Given the description of an element on the screen output the (x, y) to click on. 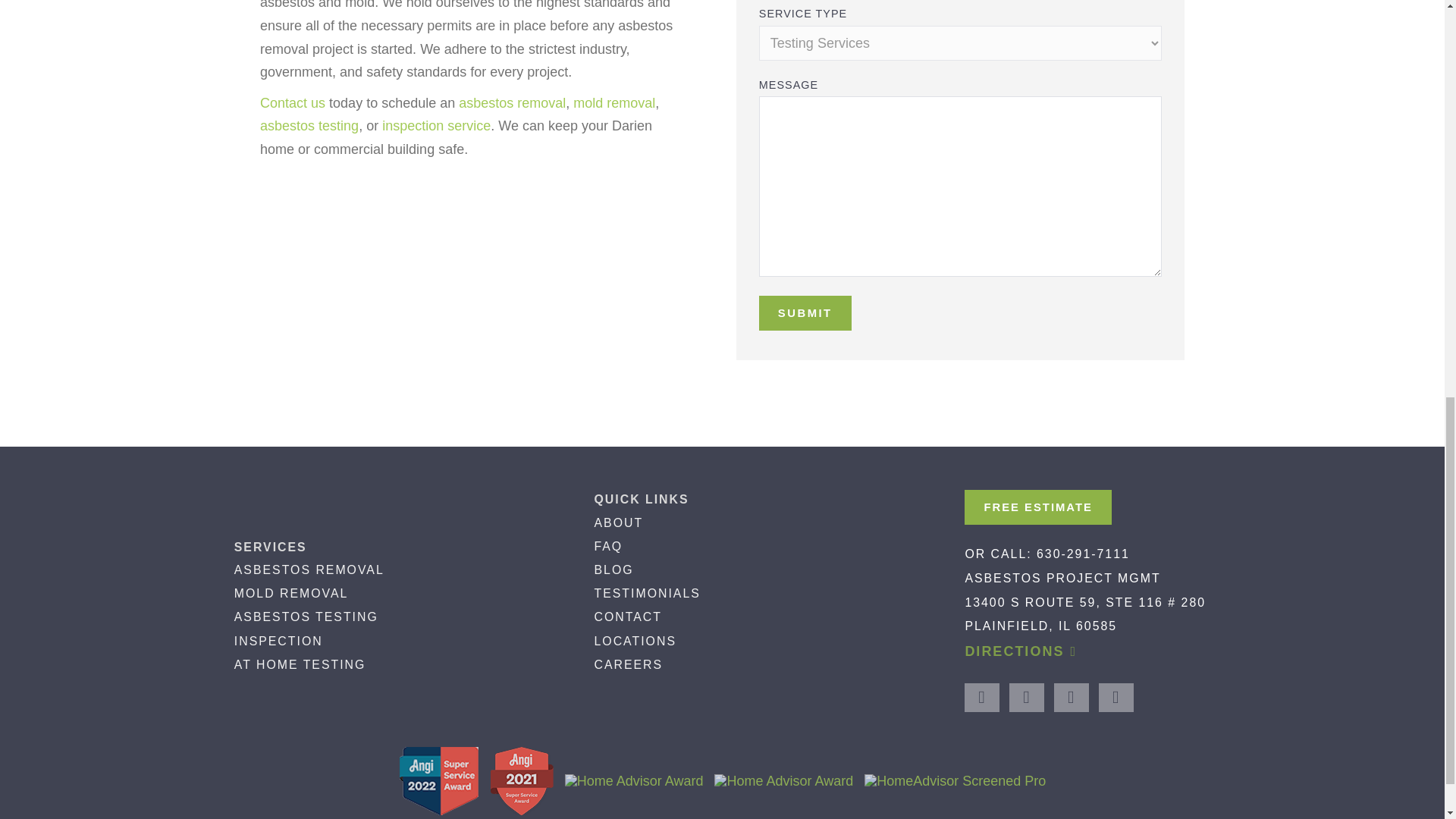
TESTIMONIALS (647, 593)
BLOG (613, 569)
MOLD REMOVAL (291, 593)
Facebook (980, 697)
QUICK LINKS (641, 499)
CAREERS (628, 664)
FAQ (608, 545)
Google Plus (1026, 697)
asbestos removal (512, 102)
mold removal (614, 102)
